Given the description of an element on the screen output the (x, y) to click on. 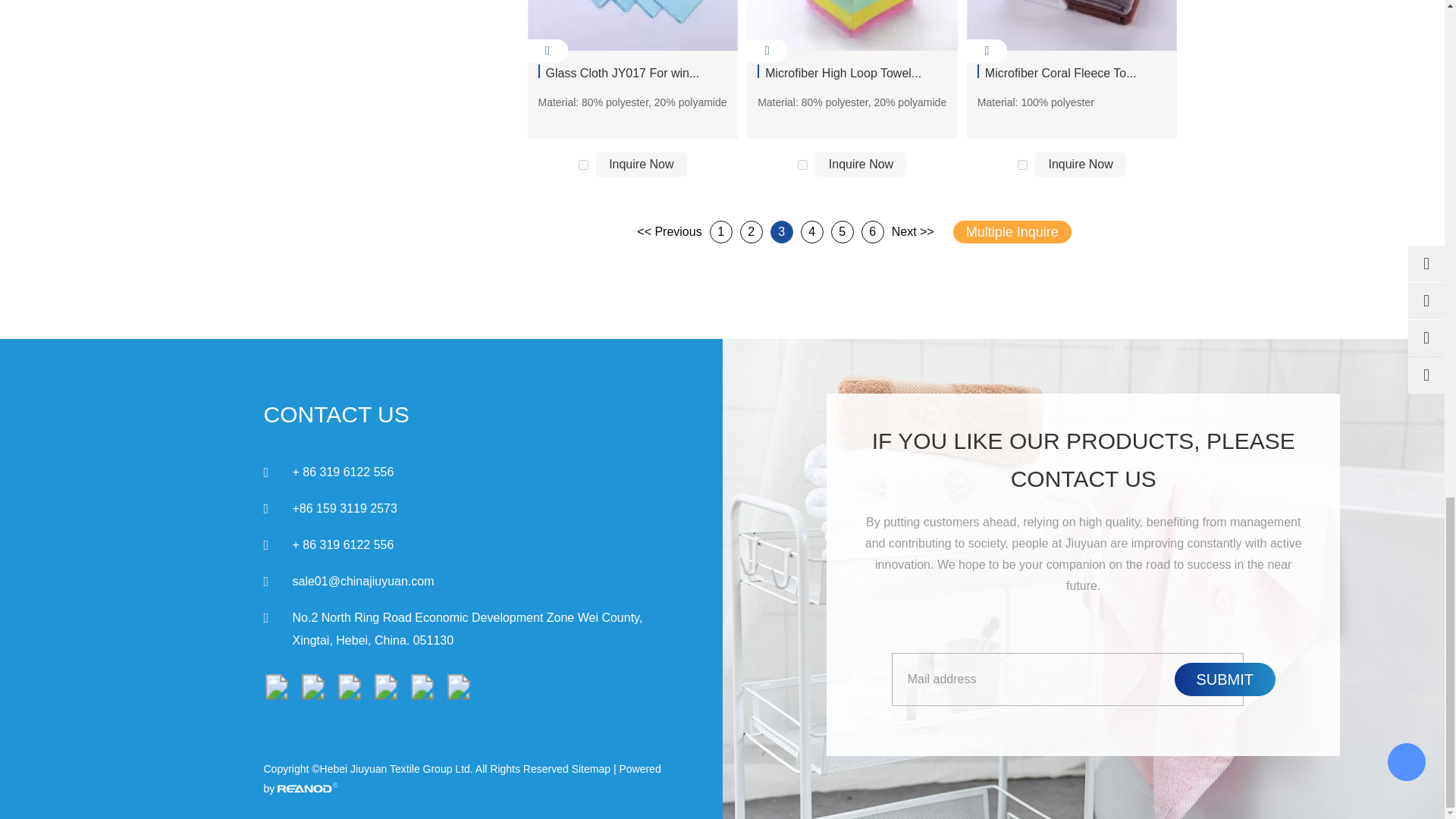
27 (802, 164)
Multiple Inquire (1012, 231)
28 (1022, 164)
26 (583, 164)
